Given the description of an element on the screen output the (x, y) to click on. 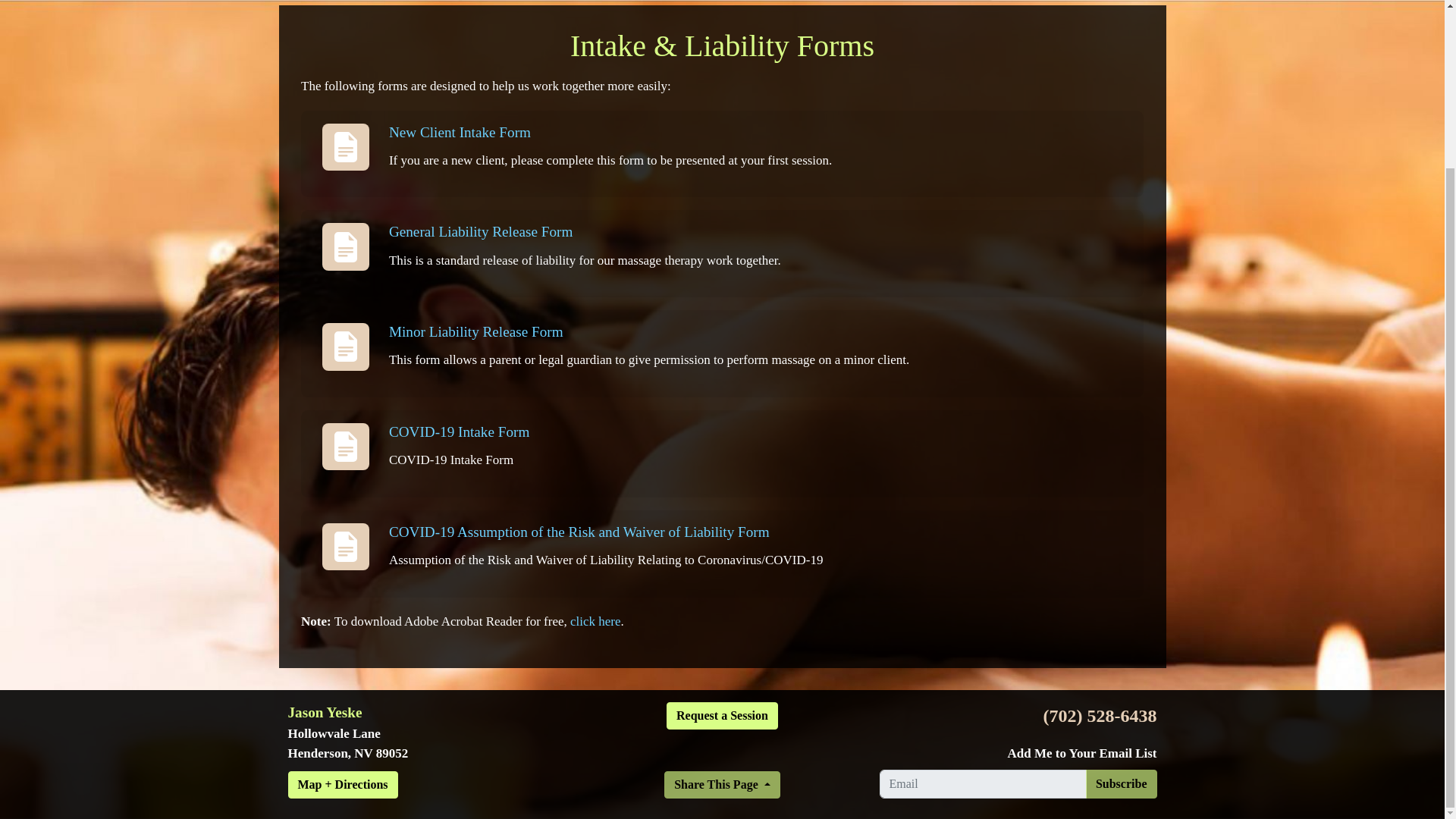
COVID-19 Assumption of the Risk and Waiver of Liability Form (579, 531)
Subscribe (1121, 783)
COVID-19 Intake Form (458, 431)
Request a Session (721, 715)
Share This Page (721, 784)
New Client Intake Form (459, 132)
Minor Liability Release Form (475, 331)
click here (595, 621)
General Liability Release Form (480, 231)
